Given the description of an element on the screen output the (x, y) to click on. 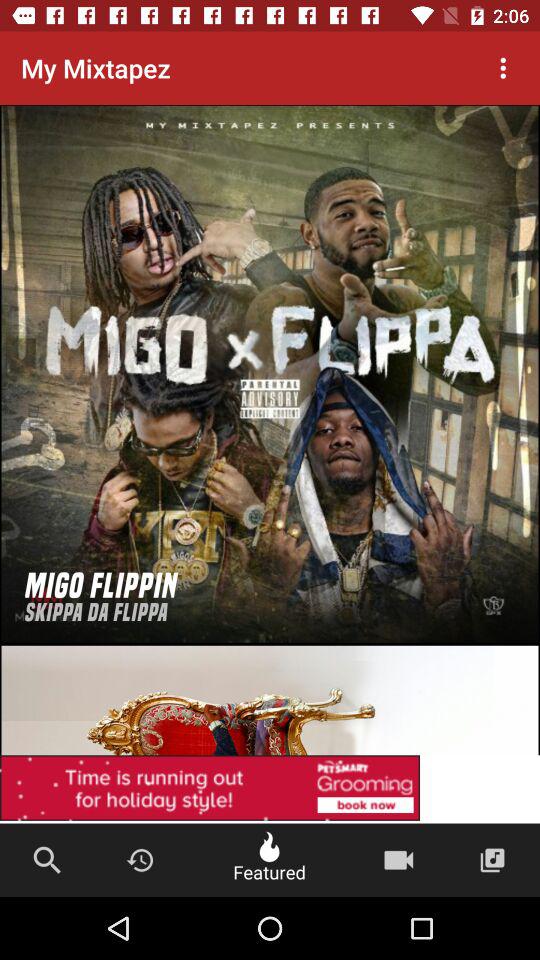
choose the item to the right of my mixtapez app (503, 67)
